Given the description of an element on the screen output the (x, y) to click on. 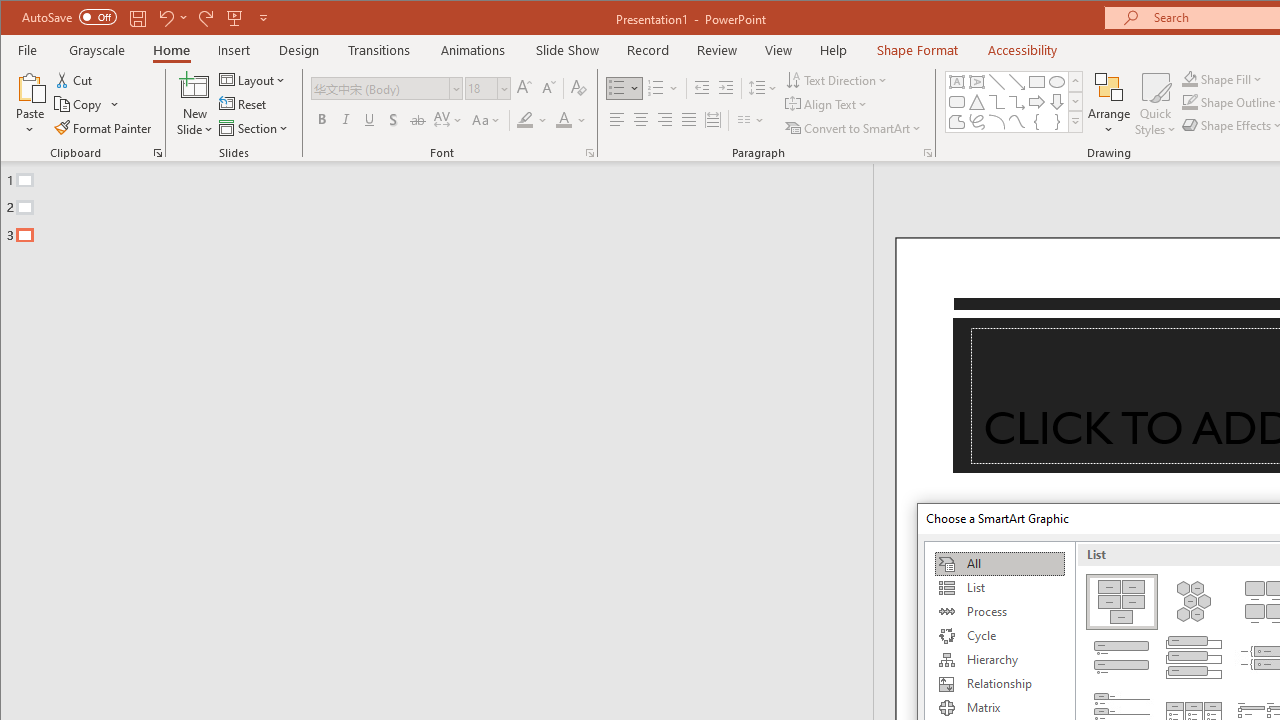
Basic Block List (1121, 601)
Oval (1057, 82)
Grayscale (97, 50)
Office Clipboard... (157, 152)
Matrix (999, 708)
Relationship (999, 683)
Section (255, 127)
Cut (74, 80)
